Given the description of an element on the screen output the (x, y) to click on. 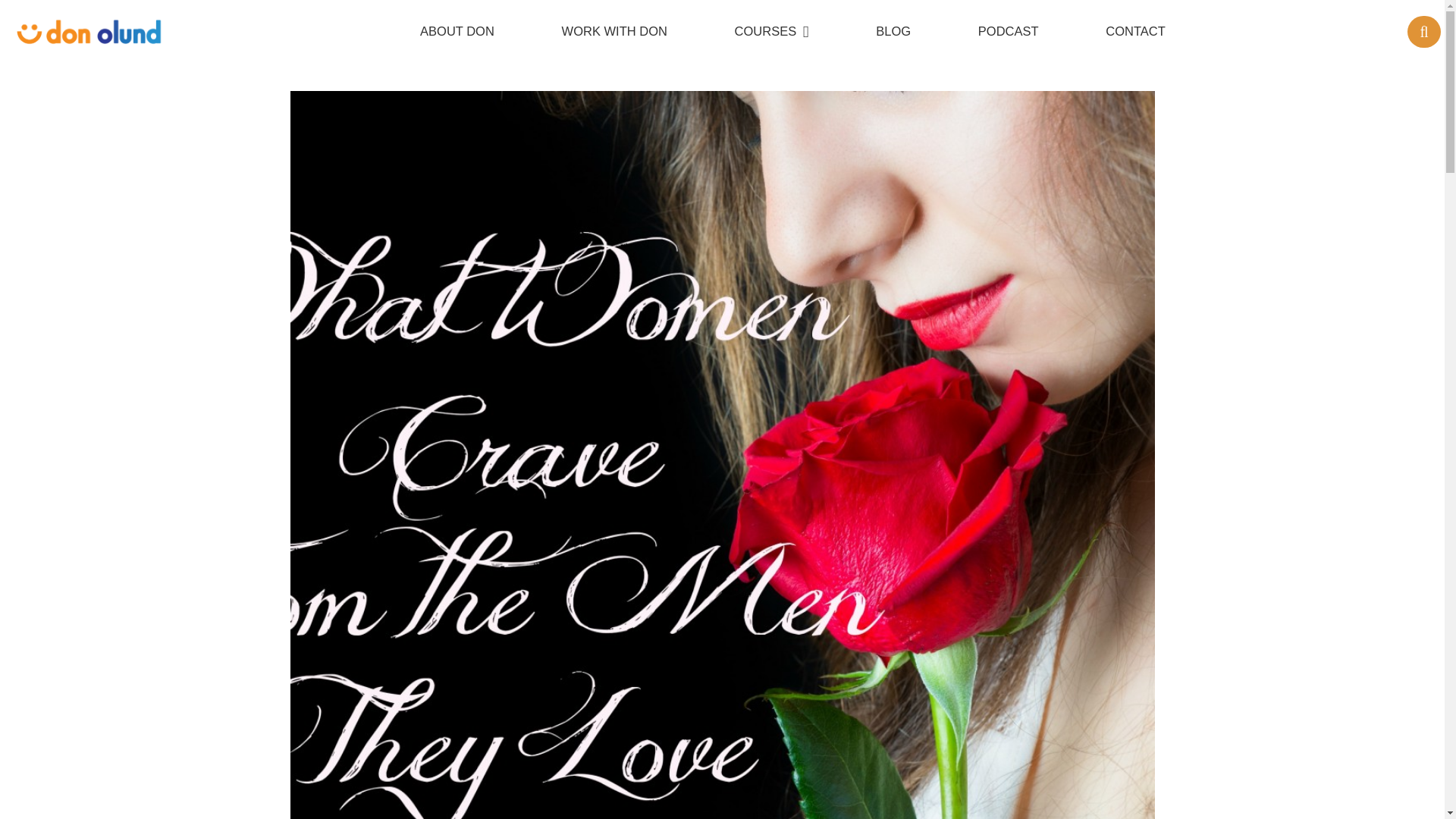
ABOUT DON (456, 32)
BLOG (893, 32)
COURSES (771, 31)
PODCAST (1008, 32)
WORK WITH DON (613, 32)
CONTACT (1135, 32)
